Given the description of an element on the screen output the (x, y) to click on. 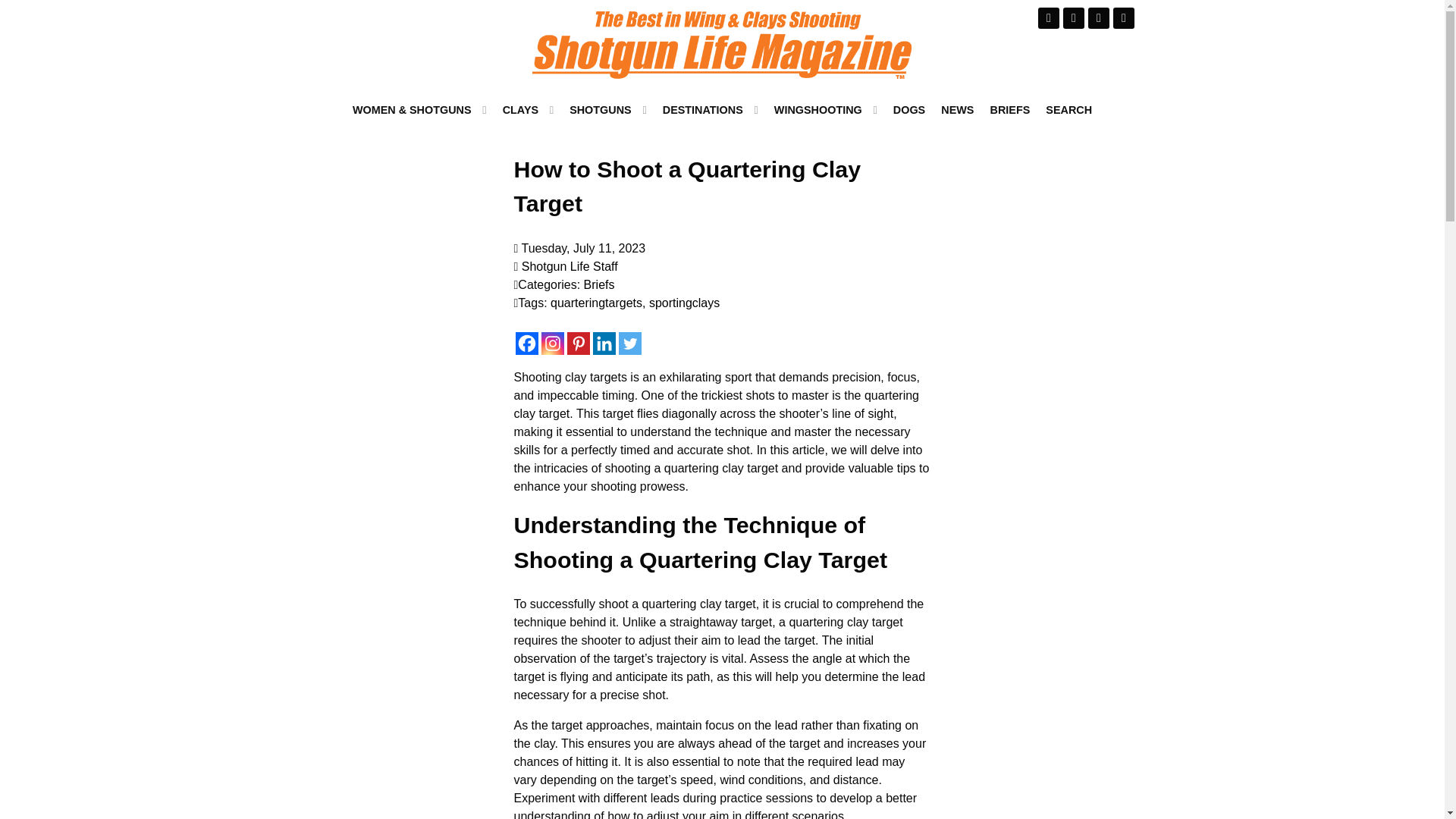
DESTINATIONS (709, 109)
Instagram (552, 343)
sportingclays (684, 302)
Briefs (598, 284)
CLAYS (527, 109)
Shotgun Life Staff (569, 266)
Facebook (526, 343)
SHOTGUNS (608, 109)
quarteringtargets (596, 302)
WINGSHOOTING (825, 109)
